Given the description of an element on the screen output the (x, y) to click on. 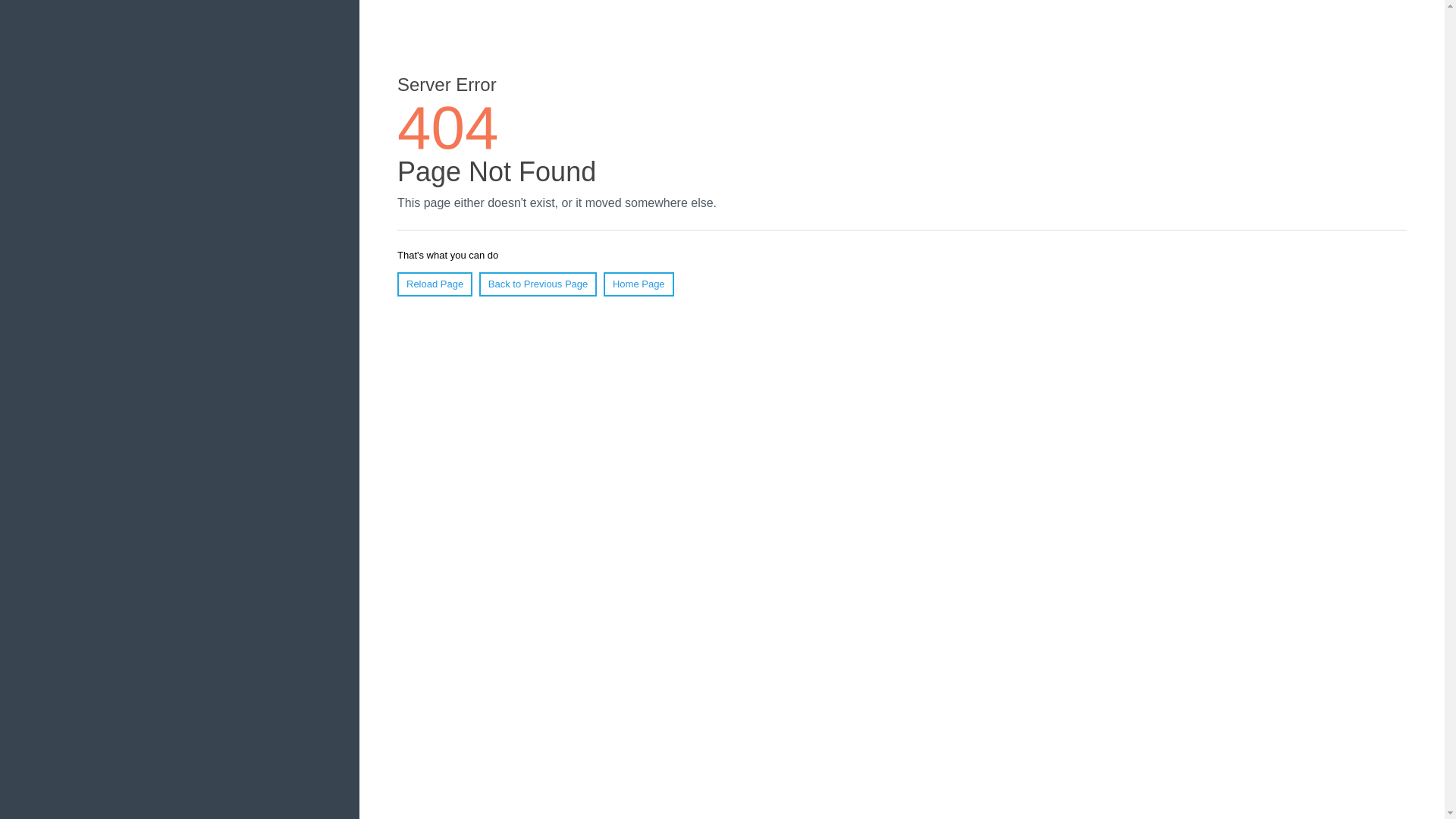
Home Page Element type: text (638, 284)
Back to Previous Page Element type: text (538, 284)
Reload Page Element type: text (434, 284)
